Given the description of an element on the screen output the (x, y) to click on. 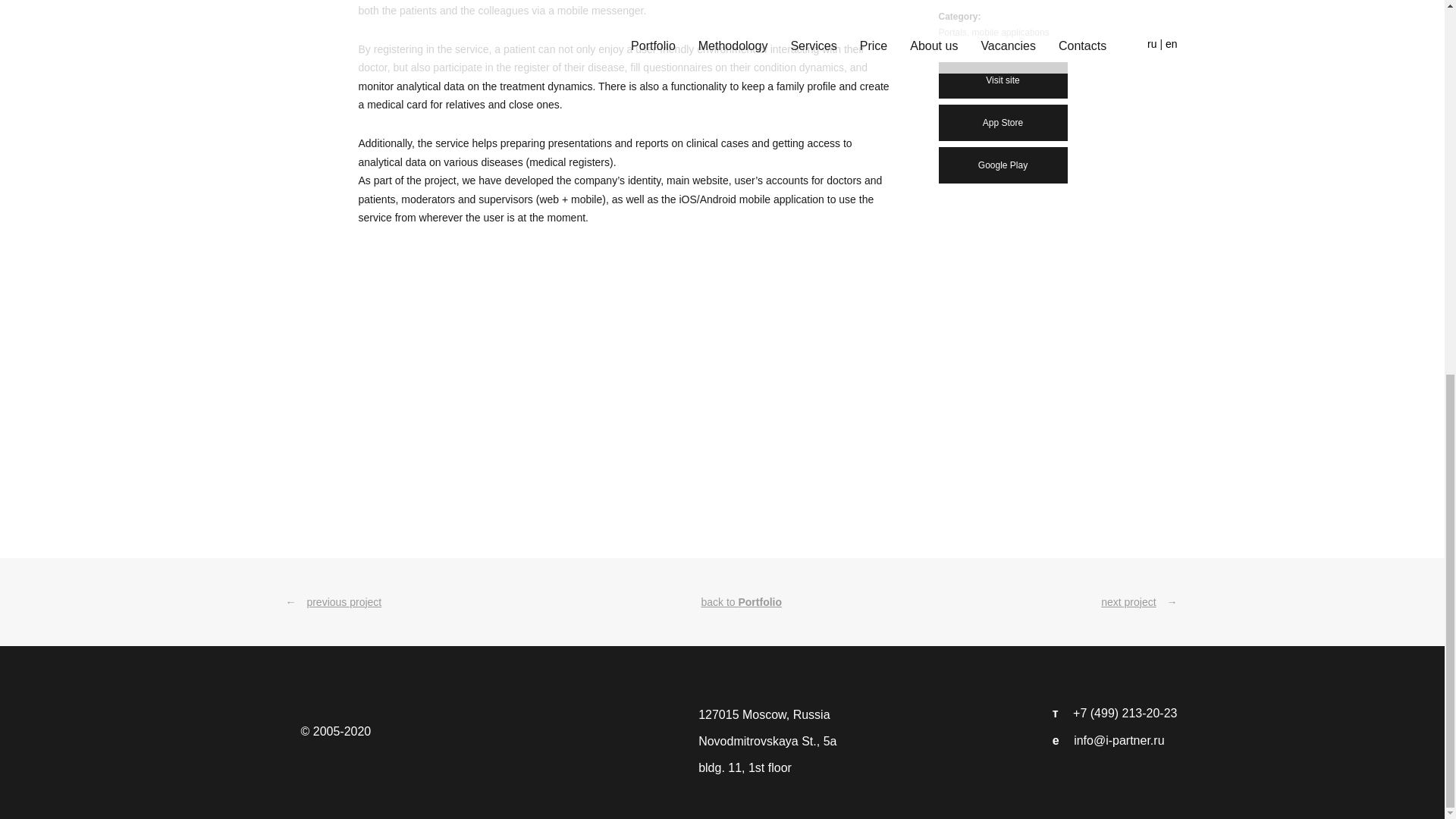
Visit site (1003, 80)
Google Play (1003, 165)
App Store (1003, 122)
back to Portfolio (740, 602)
